Given the description of an element on the screen output the (x, y) to click on. 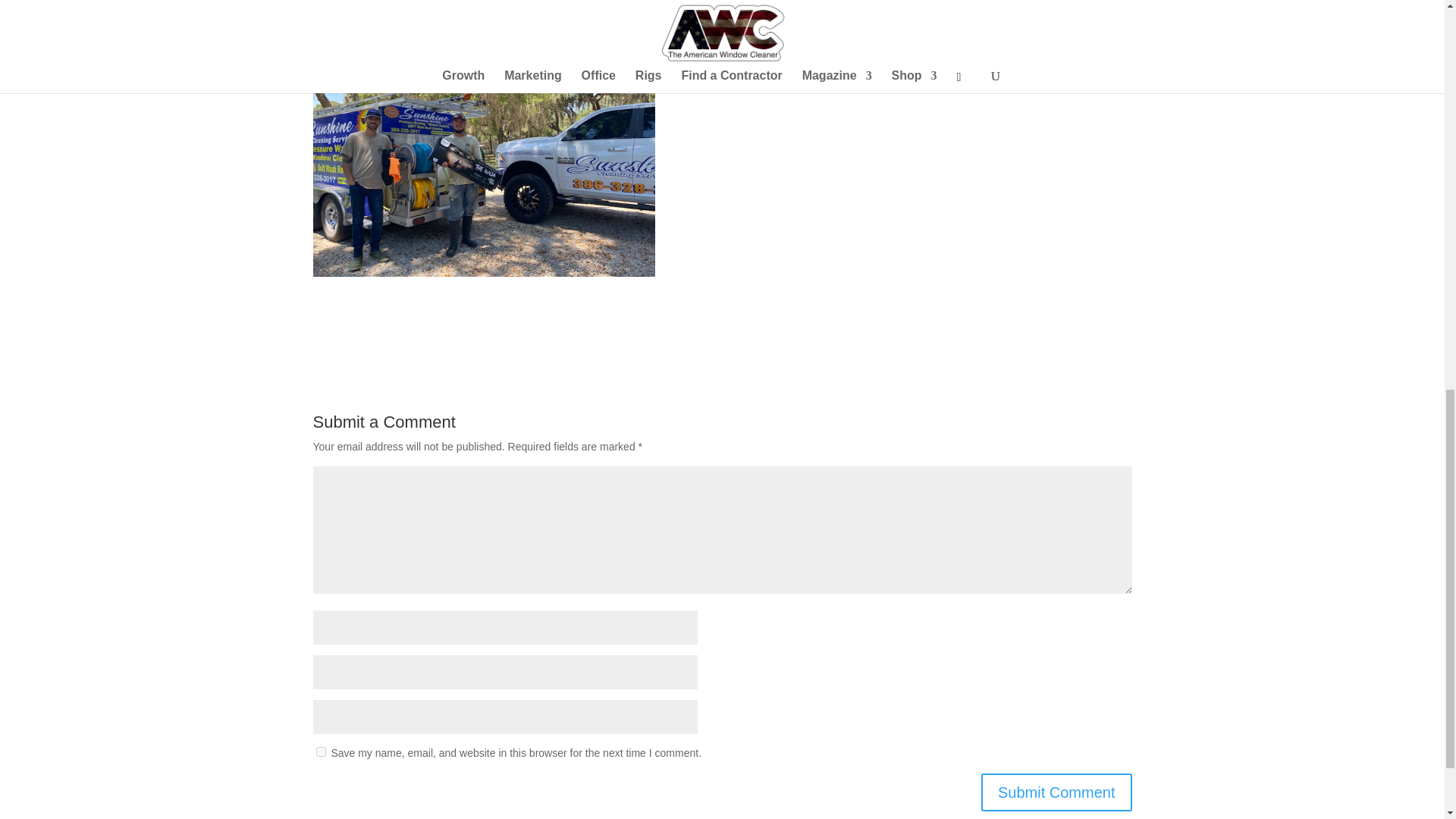
yes (319, 751)
Submit Comment (1056, 792)
